Given the description of an element on the screen output the (x, y) to click on. 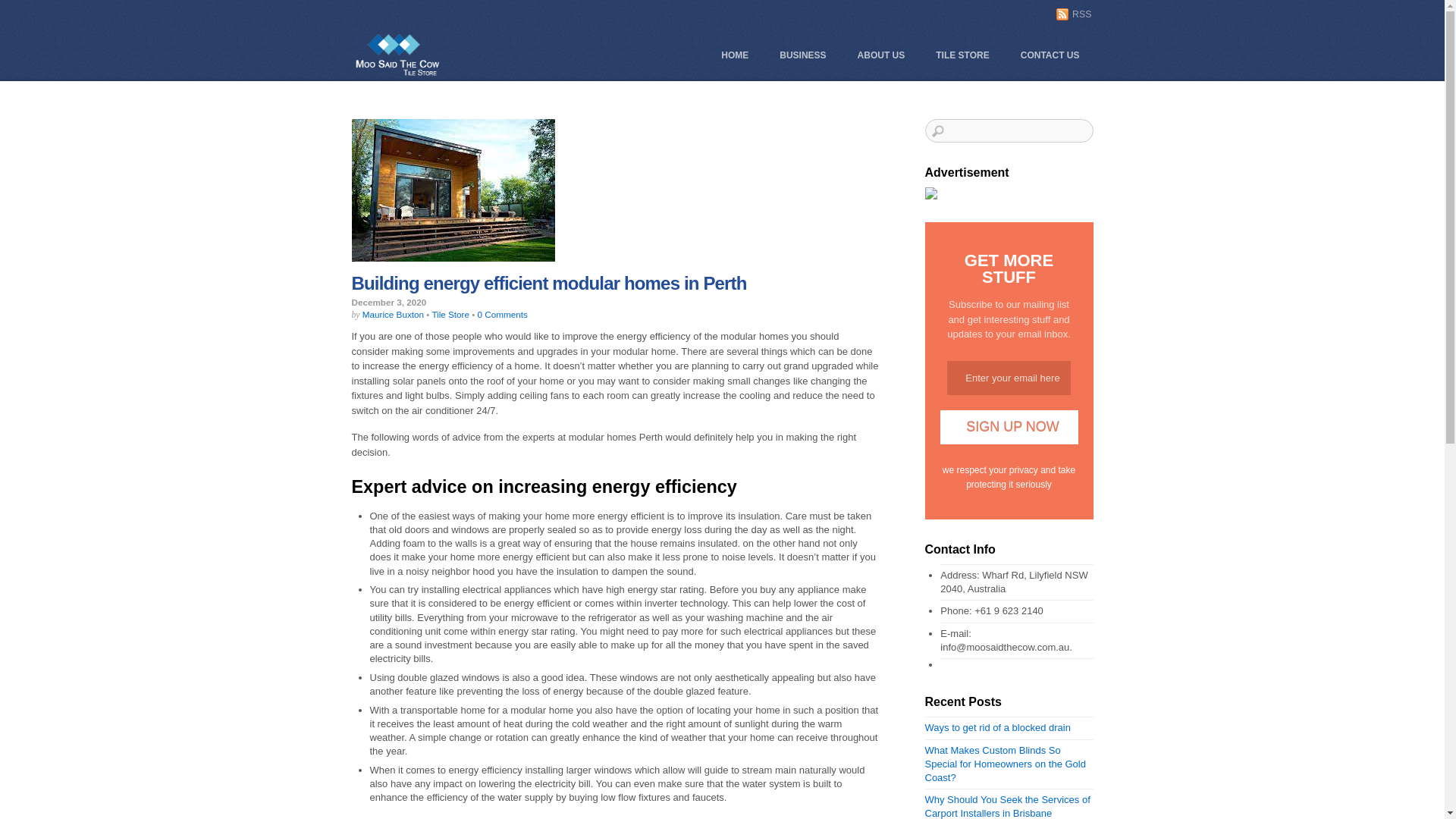
Ways to get rid of a blocked drain Element type: text (997, 727)
BUSINESS Element type: text (802, 54)
Building energy efficient modular homes in Perth Element type: text (548, 283)
ABOUT US Element type: text (881, 54)
CONTACT US Element type: text (1050, 54)
Sign Up Now Element type: text (1009, 427)
RSS Element type: text (1073, 13)
Tile Store Element type: text (450, 314)
Moo Said The Cow Element type: hover (396, 73)
Moo Said The Cow Element type: hover (396, 52)
TILE STORE Element type: text (962, 54)
Maurice Buxton Element type: text (392, 314)
0 Comments Element type: text (502, 314)
Search Element type: hover (1009, 130)
HOME Element type: text (734, 54)
